Given the description of an element on the screen output the (x, y) to click on. 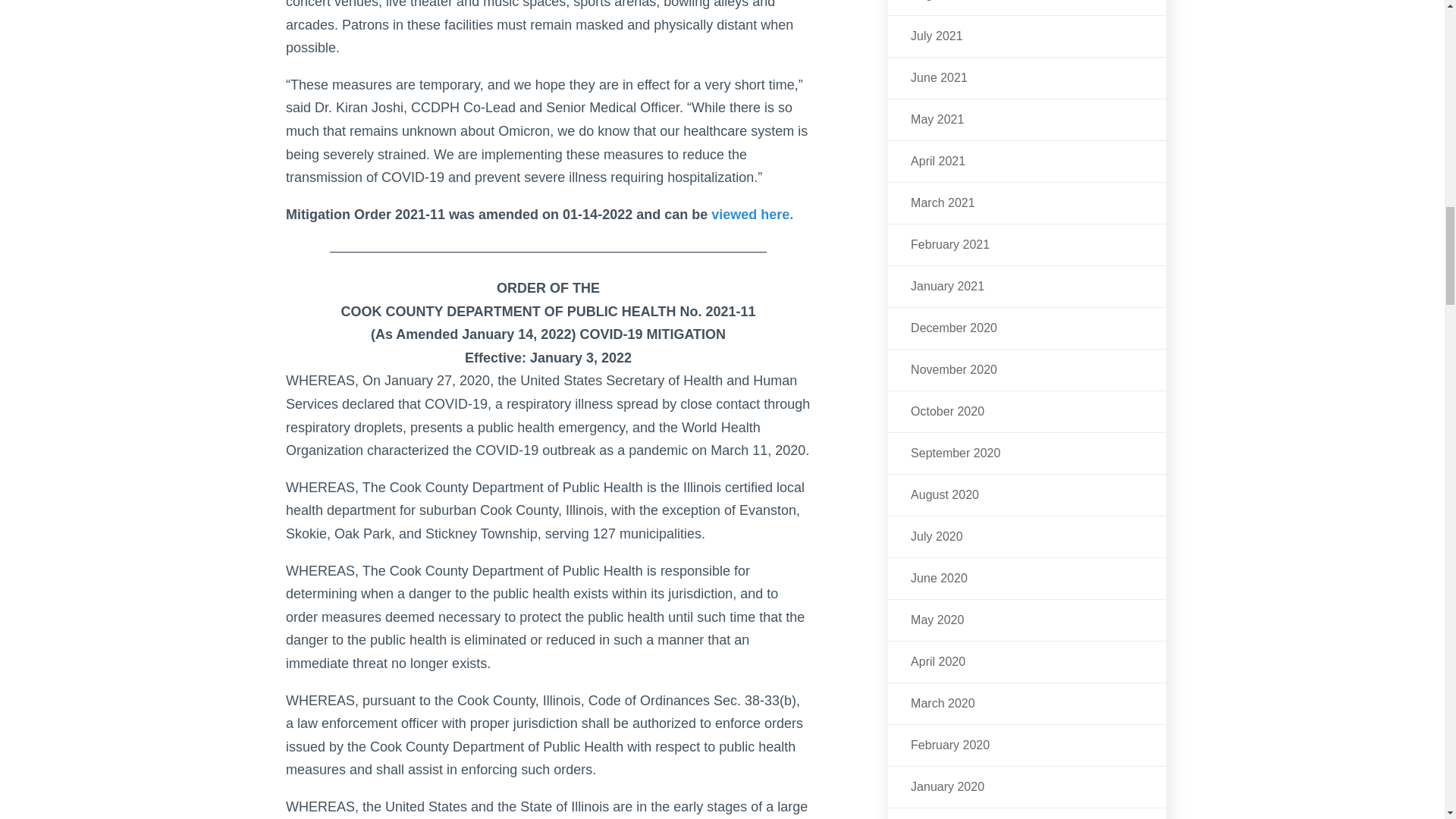
Page 1 (547, 322)
